Given the description of an element on the screen output the (x, y) to click on. 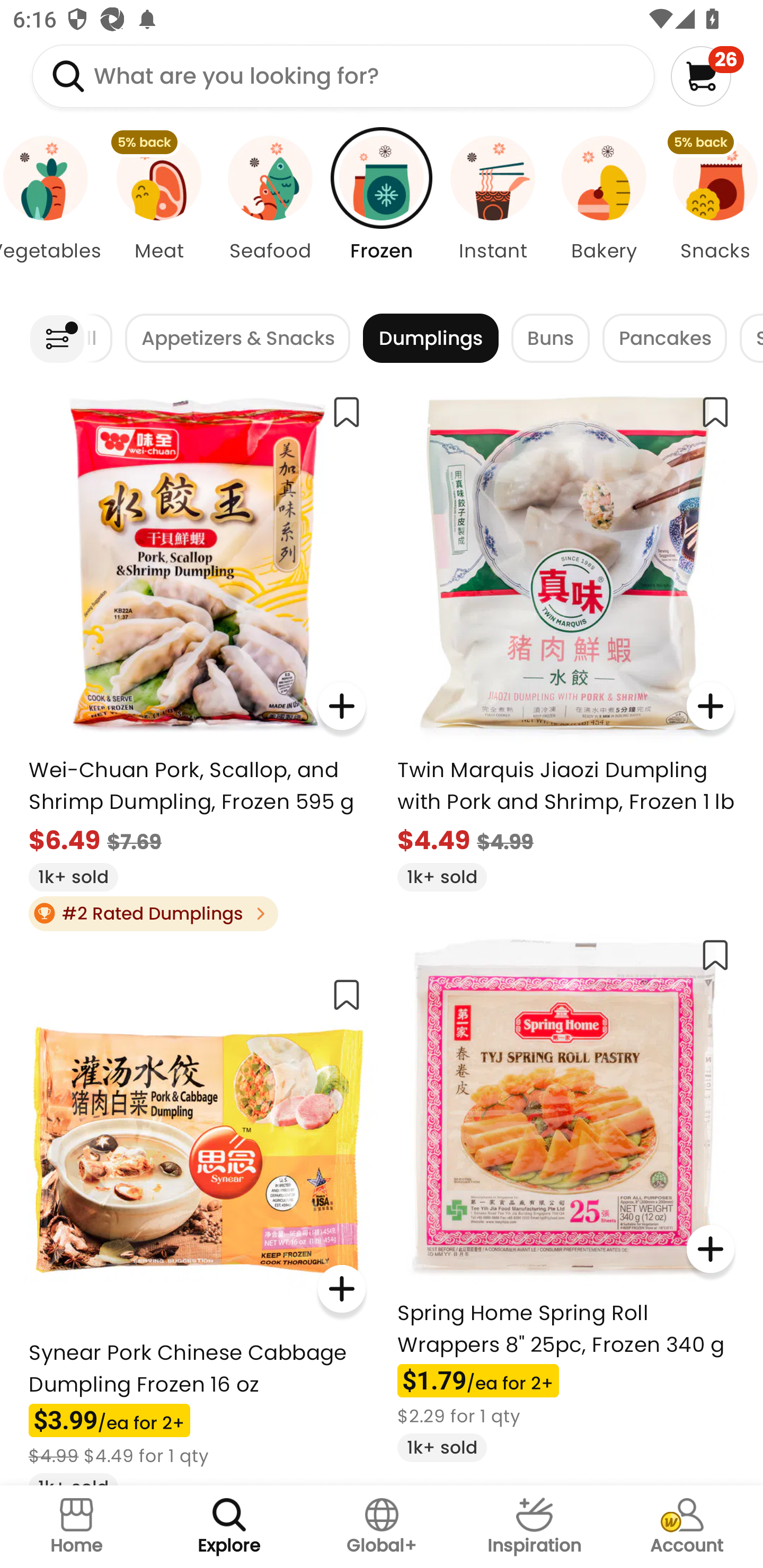
What are you looking for? (343, 75)
26 (706, 75)
Vegetables (51, 214)
5% back Meat (158, 214)
Seafood (269, 214)
Frozen (381, 214)
Instant (492, 214)
Bakery (603, 214)
5% back Snacks (711, 214)
Appetizers & Snacks (237, 337)
Dumplings (430, 337)
Buns (550, 337)
Pancakes (664, 337)
Home (76, 1526)
Explore (228, 1526)
Global+ (381, 1526)
Inspiration (533, 1526)
Account (686, 1526)
